Given the description of an element on the screen output the (x, y) to click on. 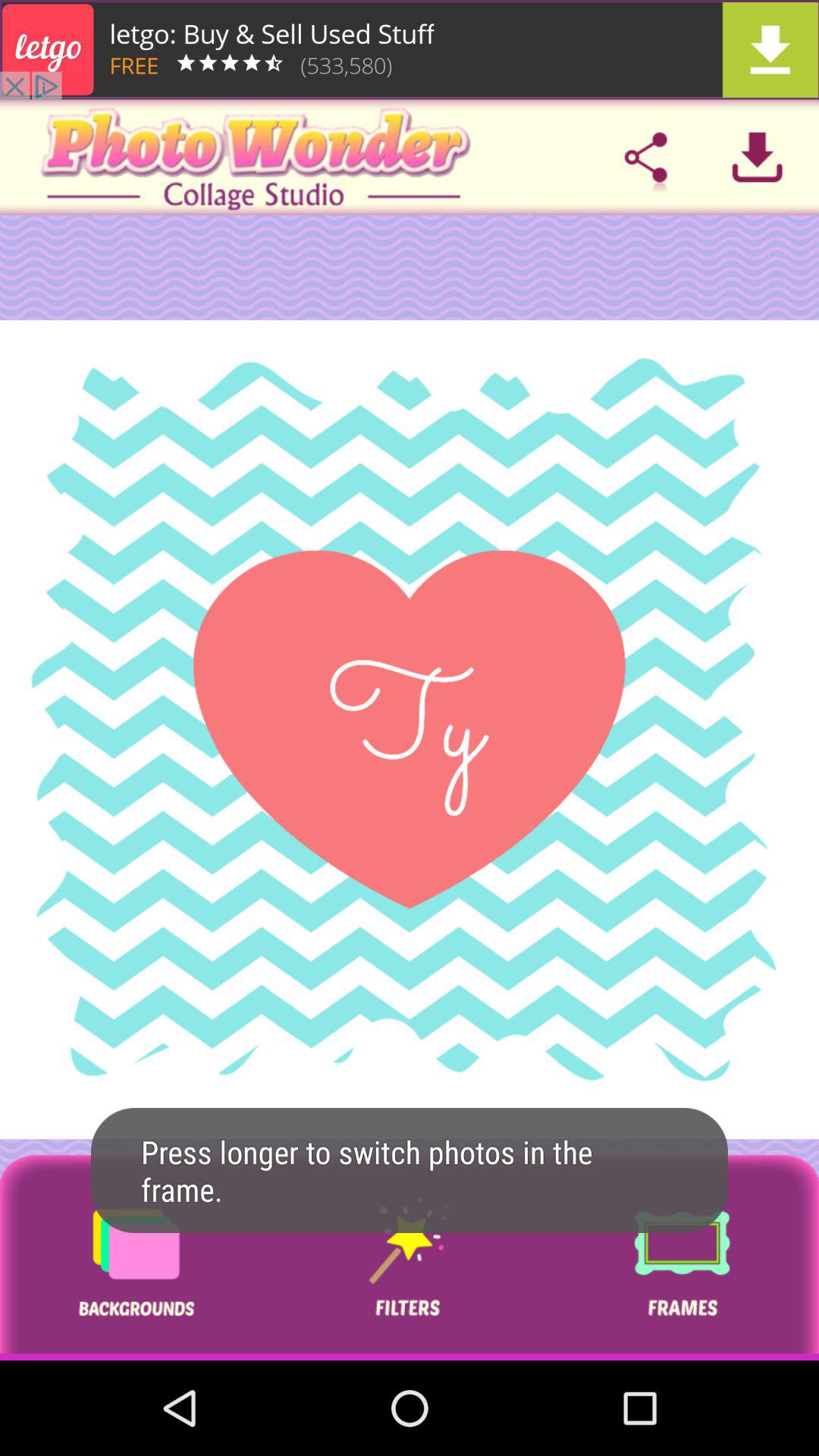
add a frame (681, 1257)
